Given the description of an element on the screen output the (x, y) to click on. 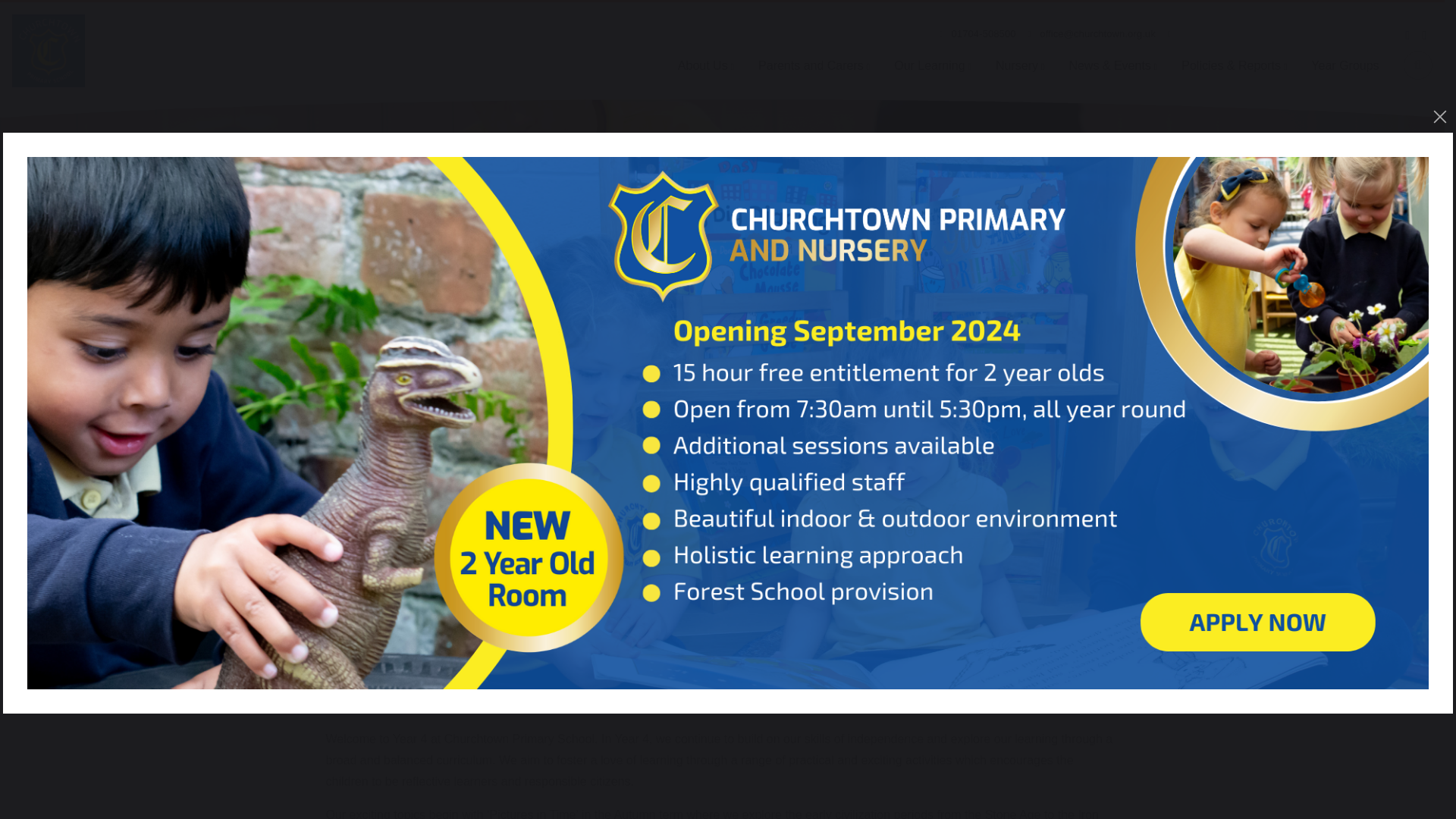
01704-508500 (977, 33)
Parents and Carers (813, 65)
X (979, 630)
Facebook (936, 630)
About Us (705, 65)
